Given the description of an element on the screen output the (x, y) to click on. 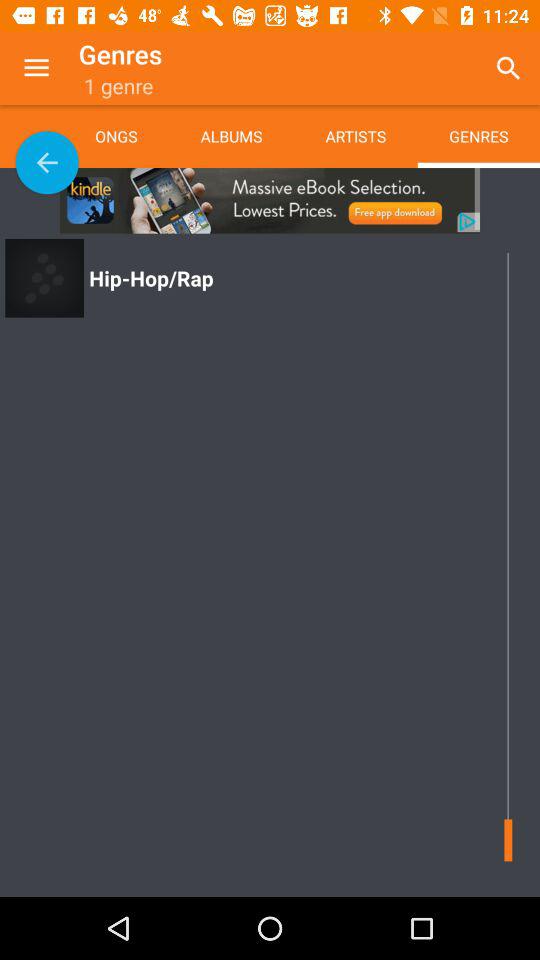
scroll to albums app (231, 136)
